Given the description of an element on the screen output the (x, y) to click on. 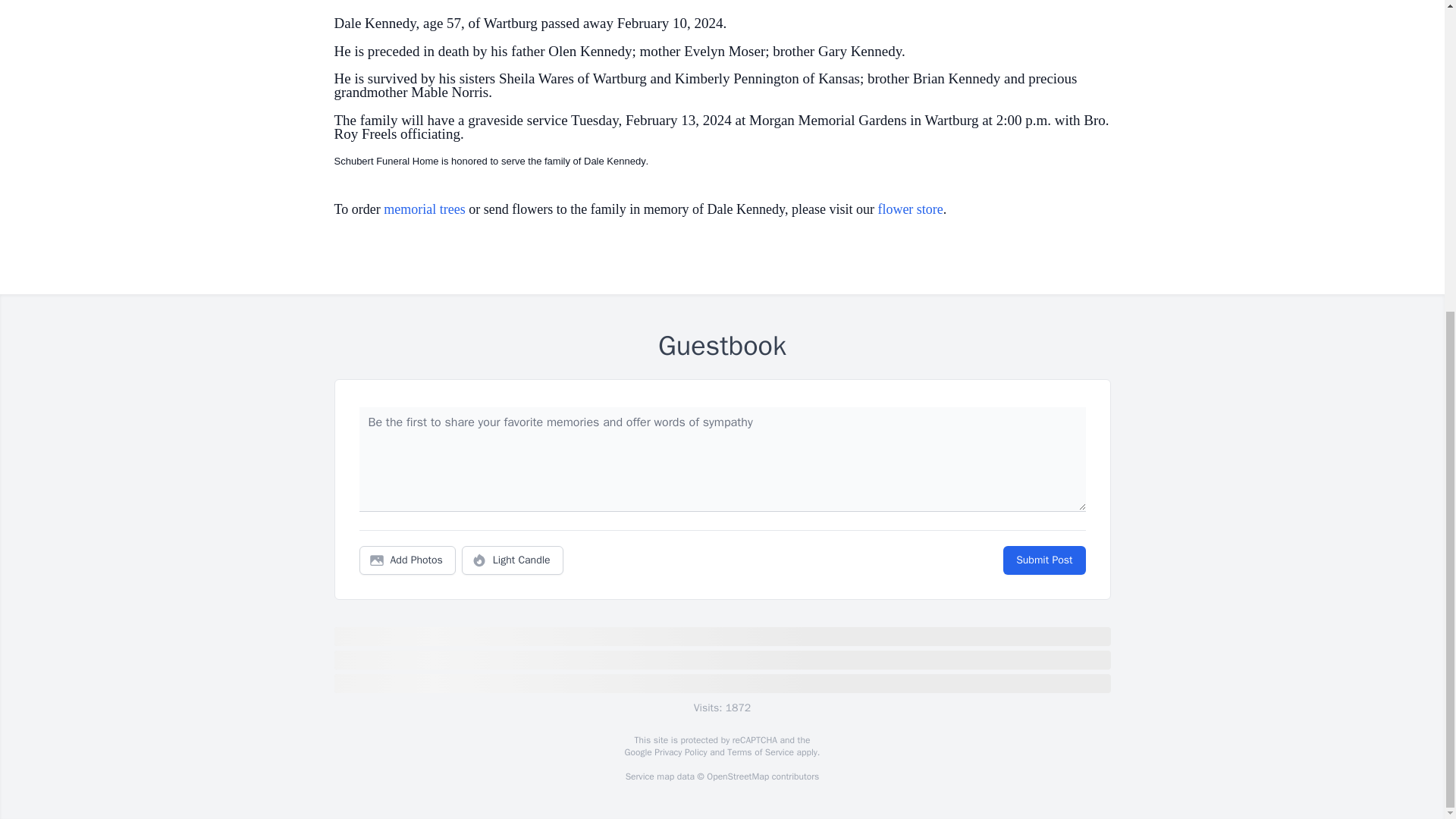
Light Candle (512, 560)
Terms of Service (759, 752)
Submit Post (1043, 560)
Privacy Policy (679, 752)
memorial trees (424, 209)
Add Photos (407, 560)
OpenStreetMap (737, 776)
flower store (909, 209)
